Given the description of an element on the screen output the (x, y) to click on. 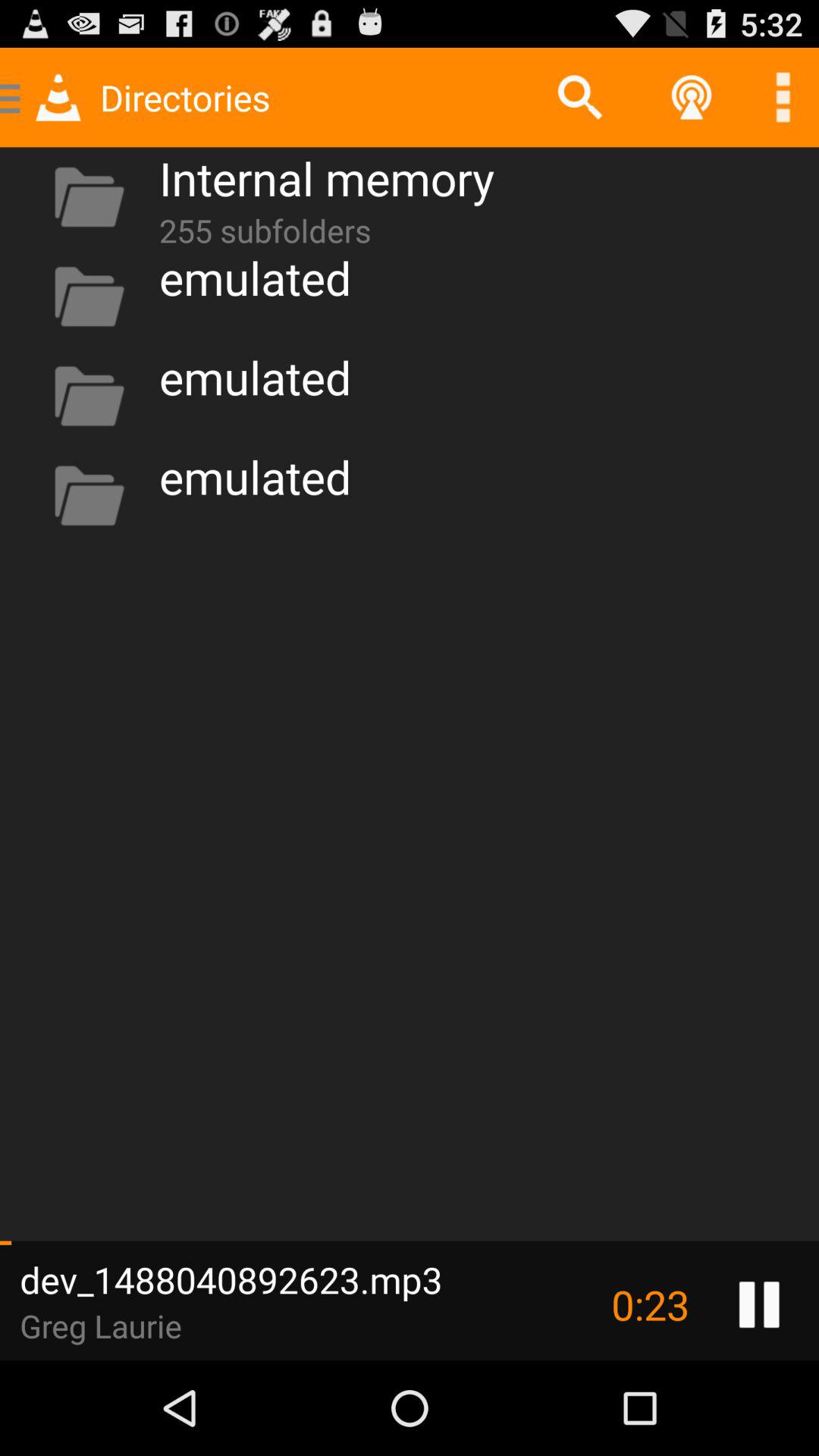
open the 255 subfolders app (265, 227)
